Given the description of an element on the screen output the (x, y) to click on. 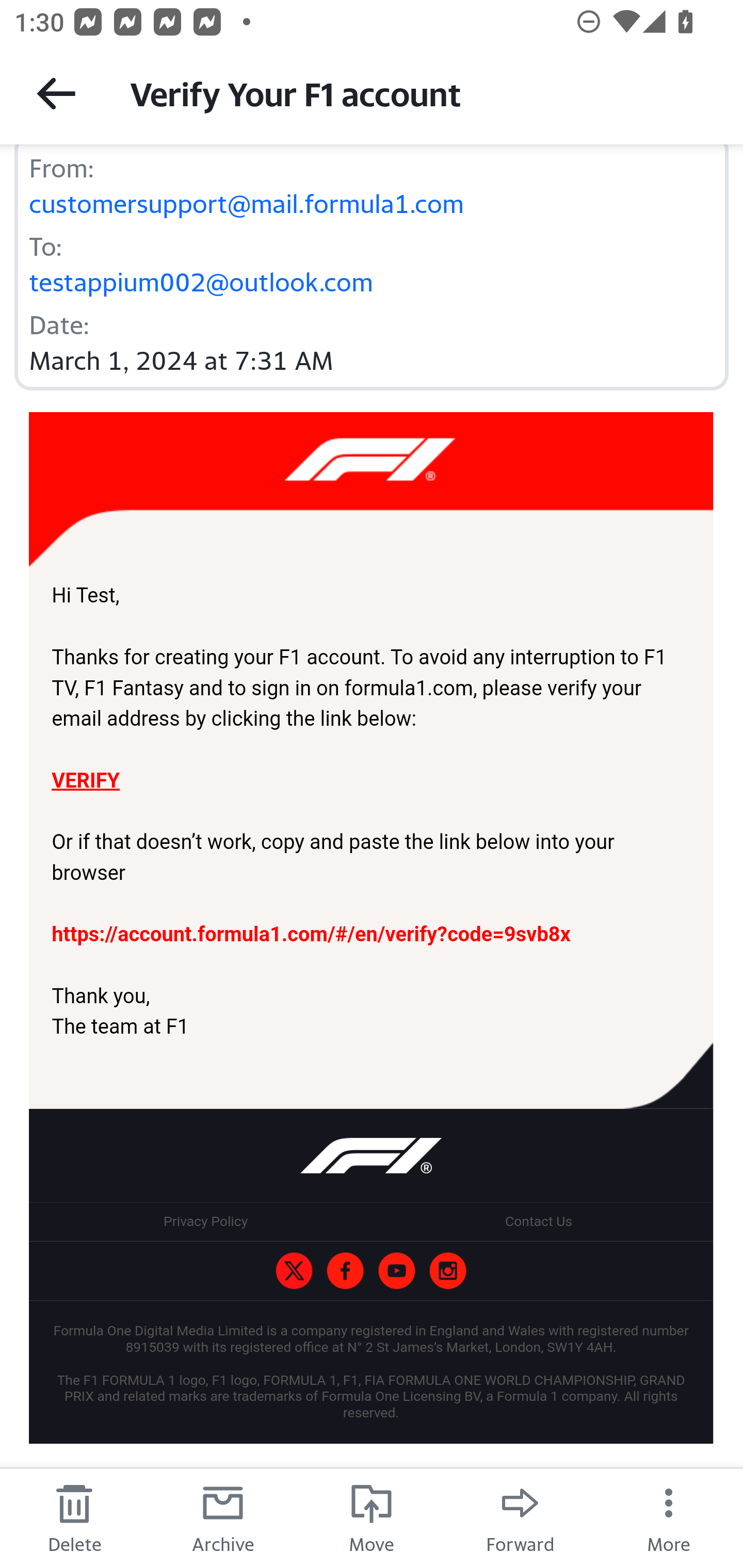
Back (55, 92)
F1 TV (370, 490)
VERIFY (85, 779)
Privacy Policy (205, 1221)
Contact Us (537, 1221)
F1 (293, 1272)
Formula1 (345, 1272)
Formula1 (396, 1272)
f1 (447, 1272)
Delete (74, 1517)
Archive (222, 1517)
Move (371, 1517)
Forward (519, 1517)
More (668, 1517)
